Given the description of an element on the screen output the (x, y) to click on. 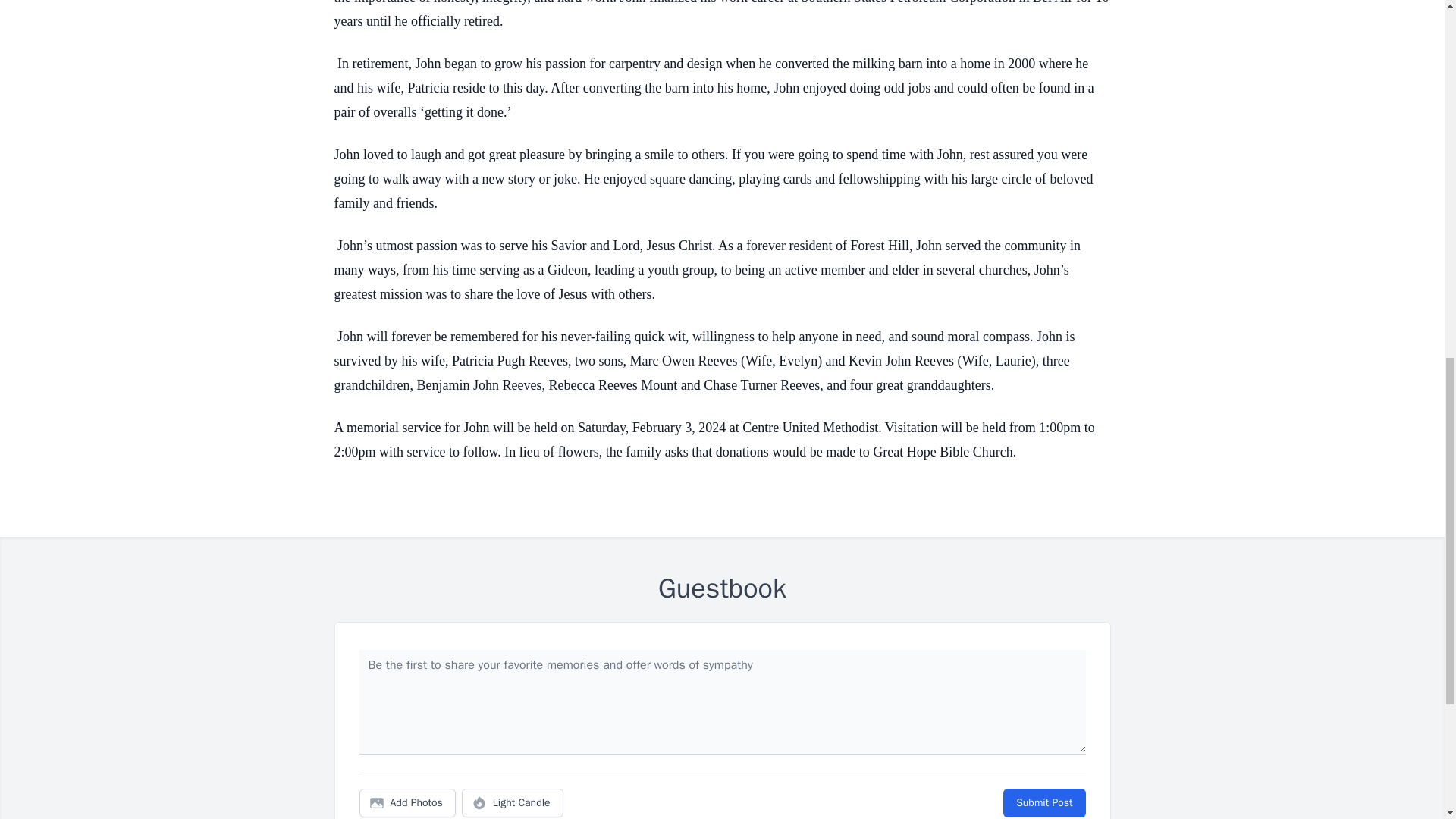
Submit Post (1043, 802)
Light Candle (512, 802)
Add Photos (407, 802)
